Given the description of an element on the screen output the (x, y) to click on. 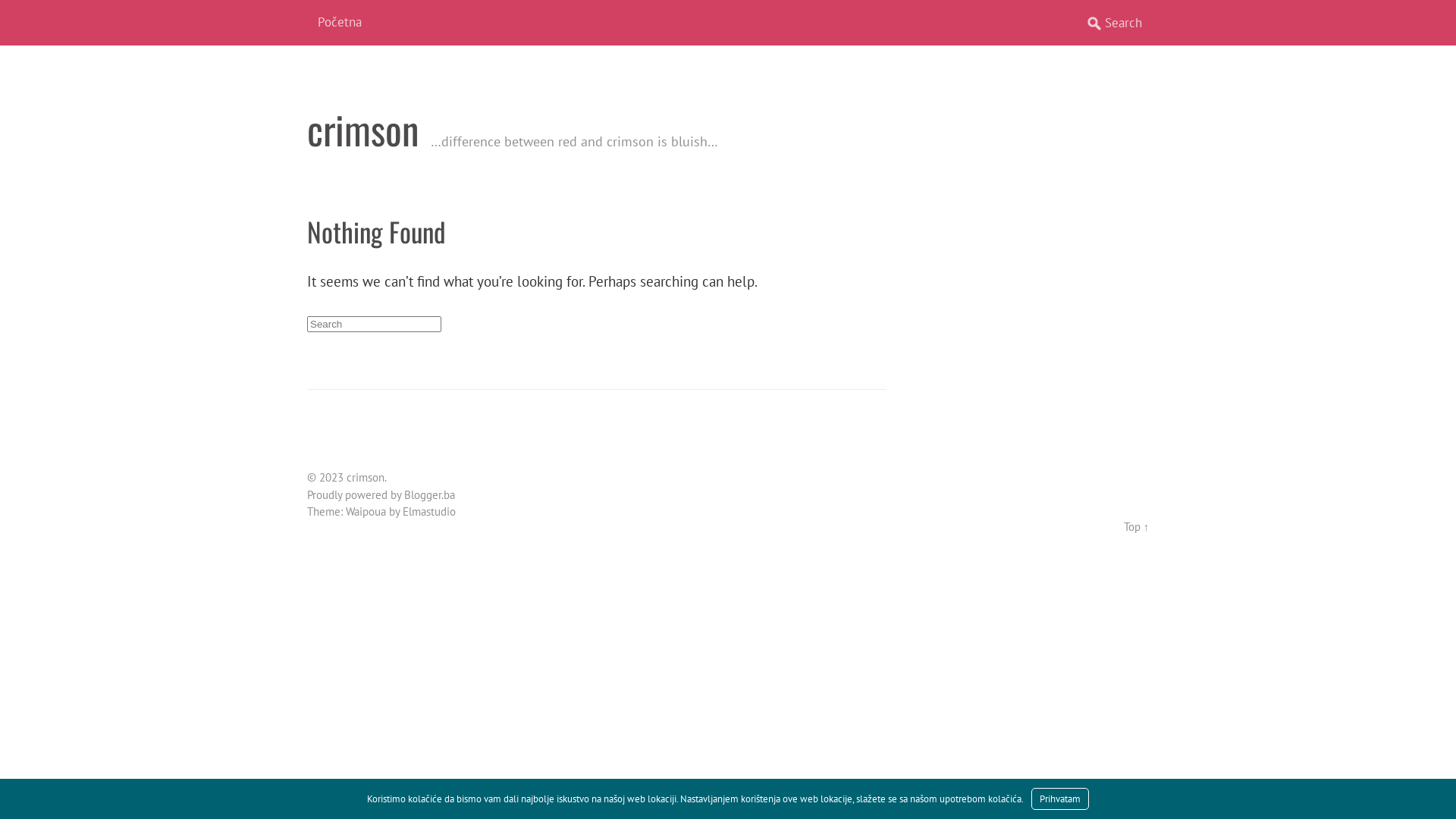
crimson Element type: text (362, 128)
Elmastudio Element type: text (428, 511)
Prihvatam Element type: text (1059, 798)
Blogger.ba Element type: text (429, 494)
Search Element type: text (21, 7)
